Given the description of an element on the screen output the (x, y) to click on. 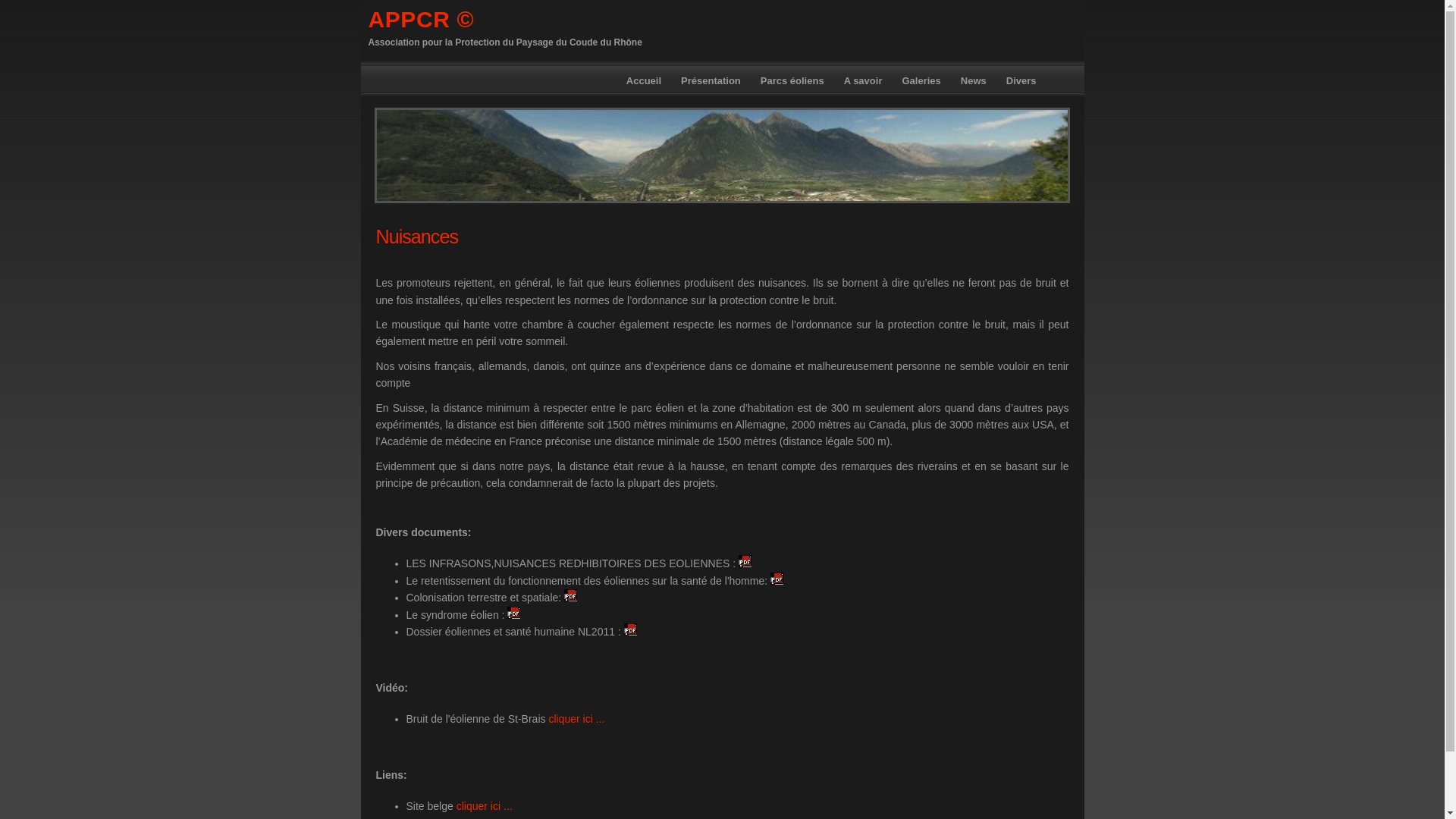
Galeries Element type: text (920, 80)
News Element type: text (973, 80)
Divers Element type: text (1021, 80)
cliquer ici ... Element type: text (576, 718)
A savoir Element type: text (863, 80)
Accueil Element type: text (643, 80)
cliquer ici ... Element type: text (484, 806)
